Given the description of an element on the screen output the (x, y) to click on. 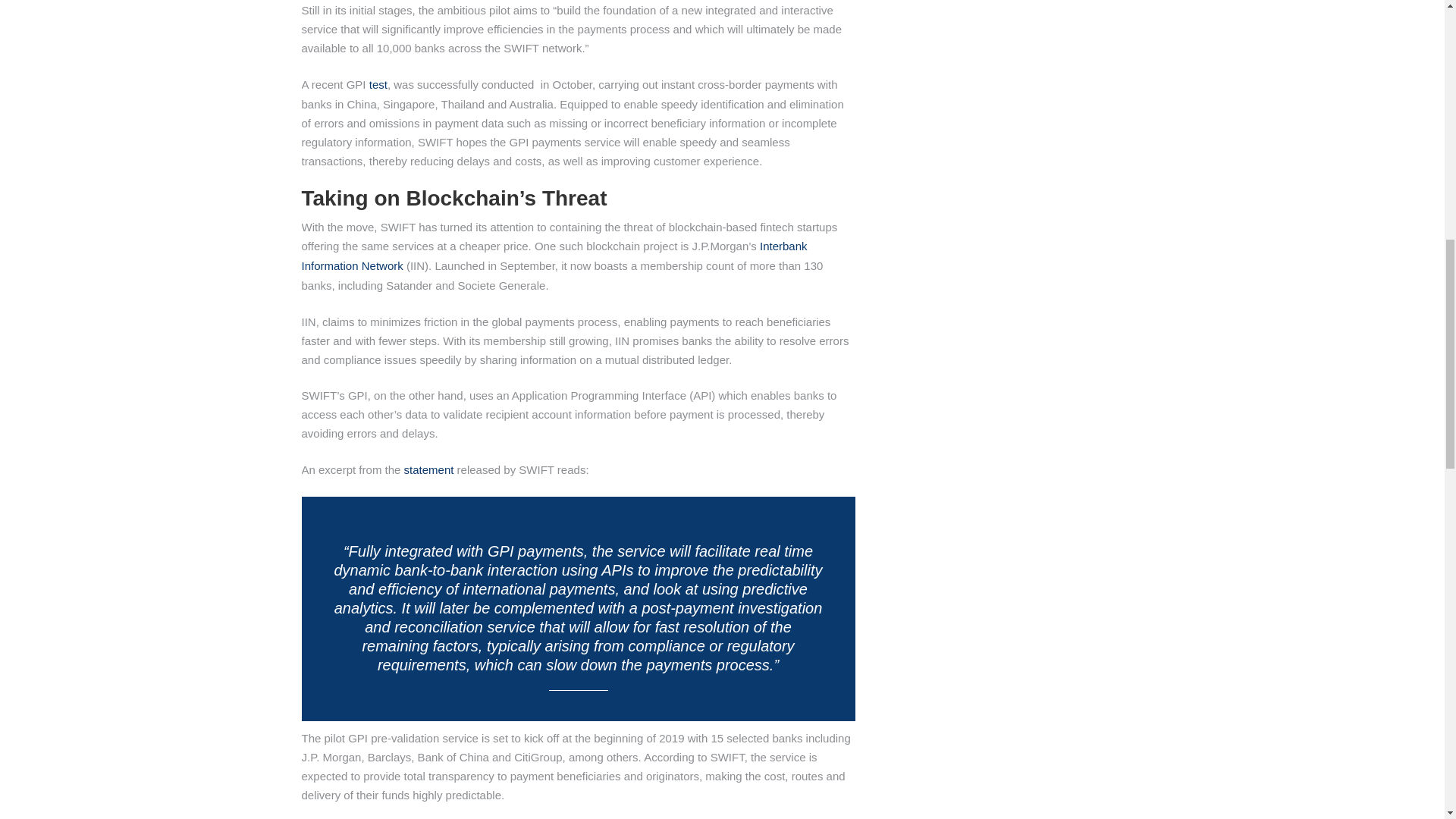
statement (429, 469)
test (378, 83)
Interbank Information Network (554, 255)
